Given the description of an element on the screen output the (x, y) to click on. 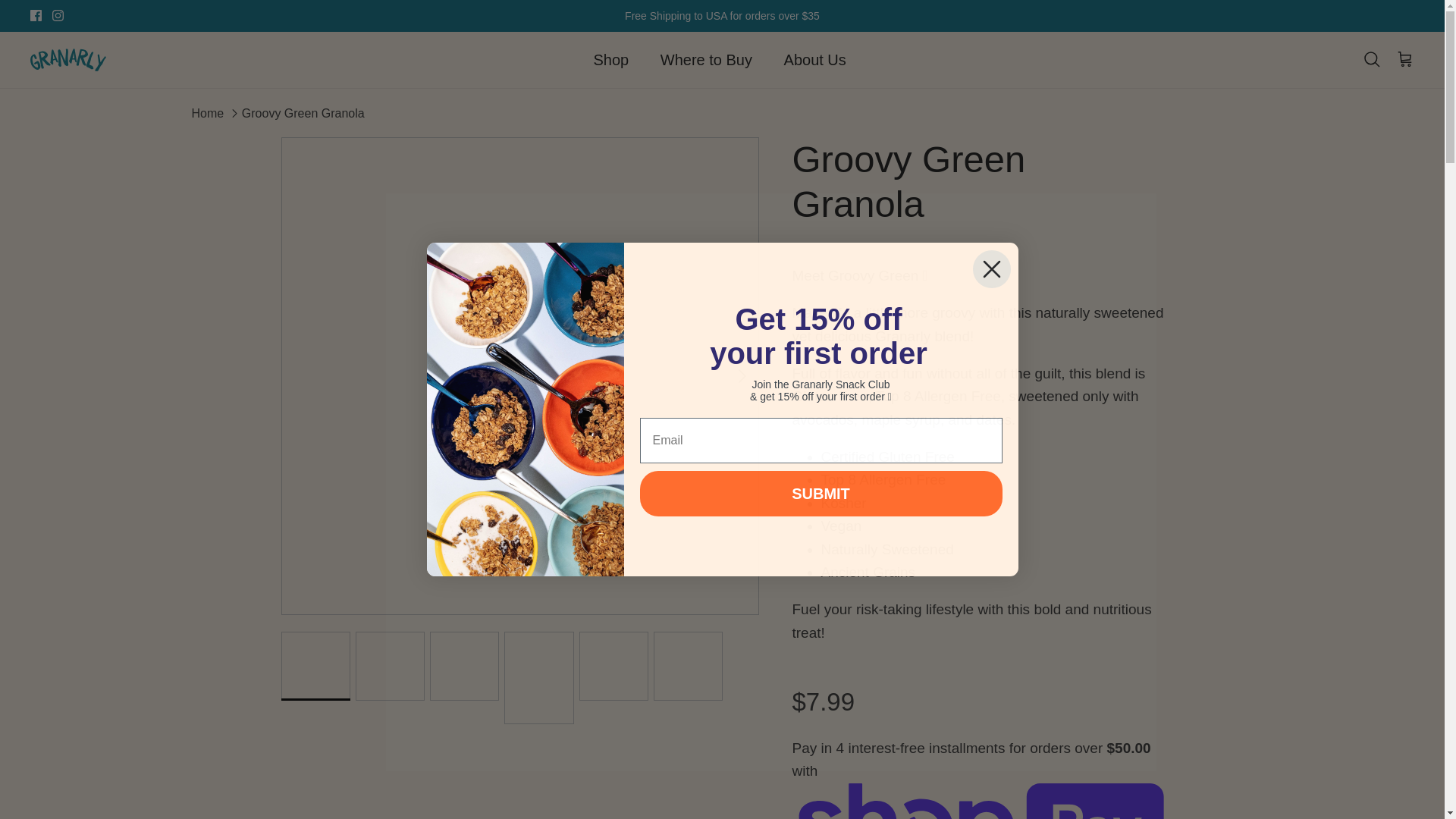
Instagram (58, 15)
About Us (815, 59)
Shop (611, 59)
Close dialog 1 (991, 269)
Where to Buy (705, 59)
Cart (1404, 59)
Facebook (36, 15)
Instagram (58, 15)
Granarly (68, 60)
Search (1371, 59)
Facebook (36, 15)
Right (741, 375)
